Given the description of an element on the screen output the (x, y) to click on. 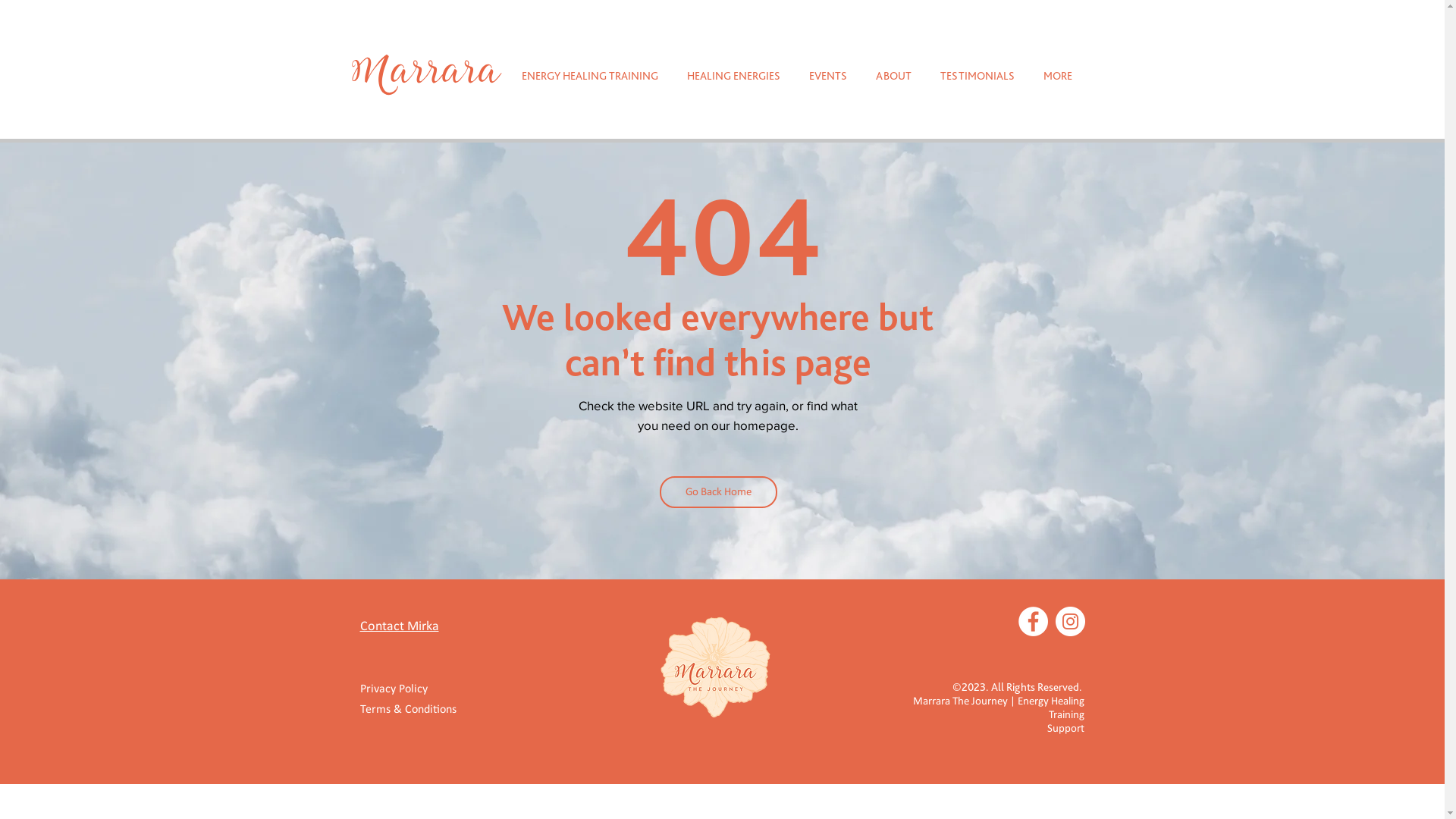
TESTIMONIALS Element type: text (976, 75)
Privacy Policy Element type: text (401, 689)
EVENTS Element type: text (827, 75)
Go Back Home Element type: text (718, 492)
Terms & Conditions Element type: text (414, 709)
Contact Mirka Element type: text (398, 626)
ENERGY HEALING TRAINING Element type: text (589, 75)
